Given the description of an element on the screen output the (x, y) to click on. 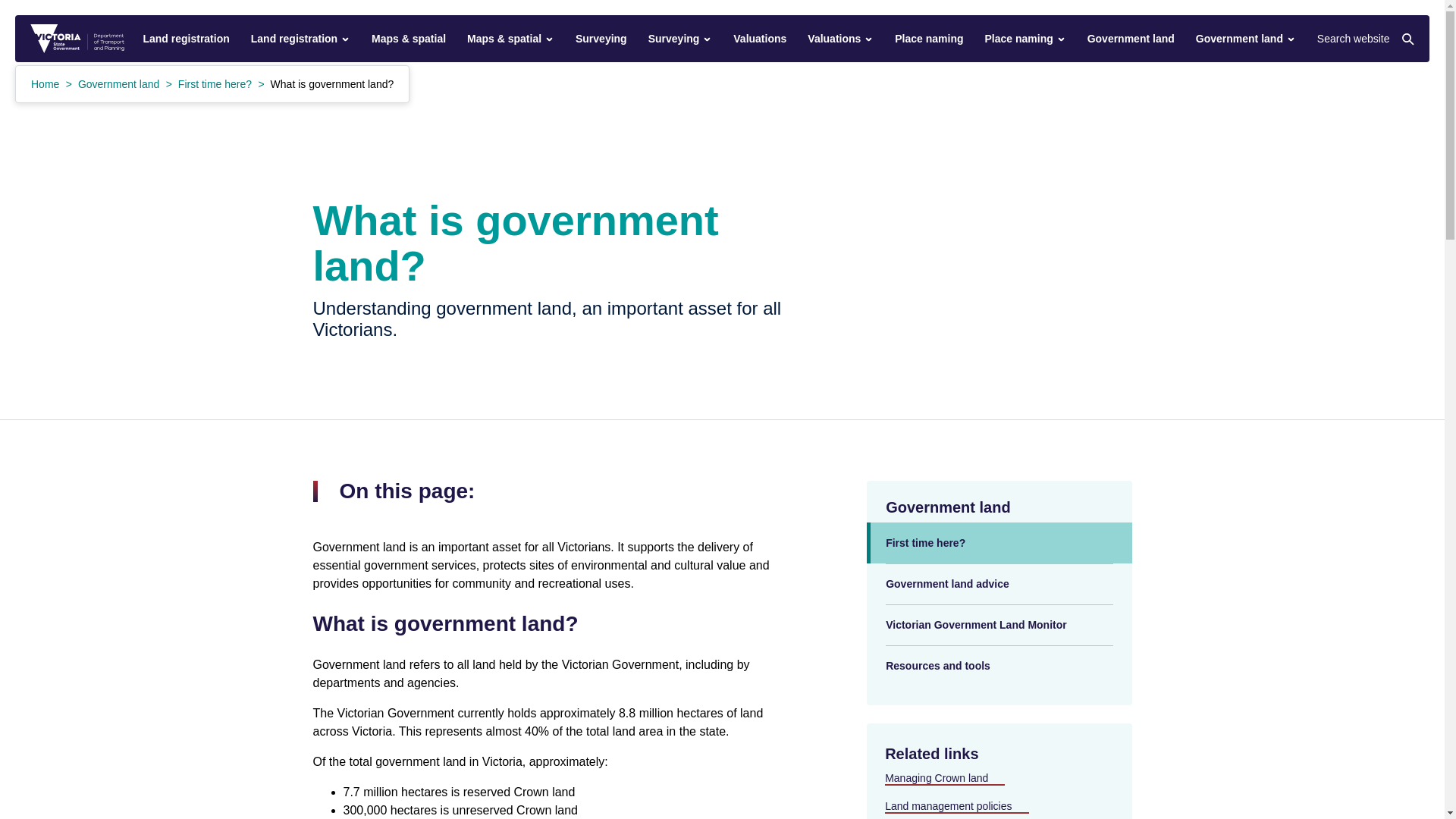
Land registration (300, 38)
Skip to content (14, 7)
Land registration (185, 38)
Land registration (185, 38)
Land.Vic (76, 38)
